Given the description of an element on the screen output the (x, y) to click on. 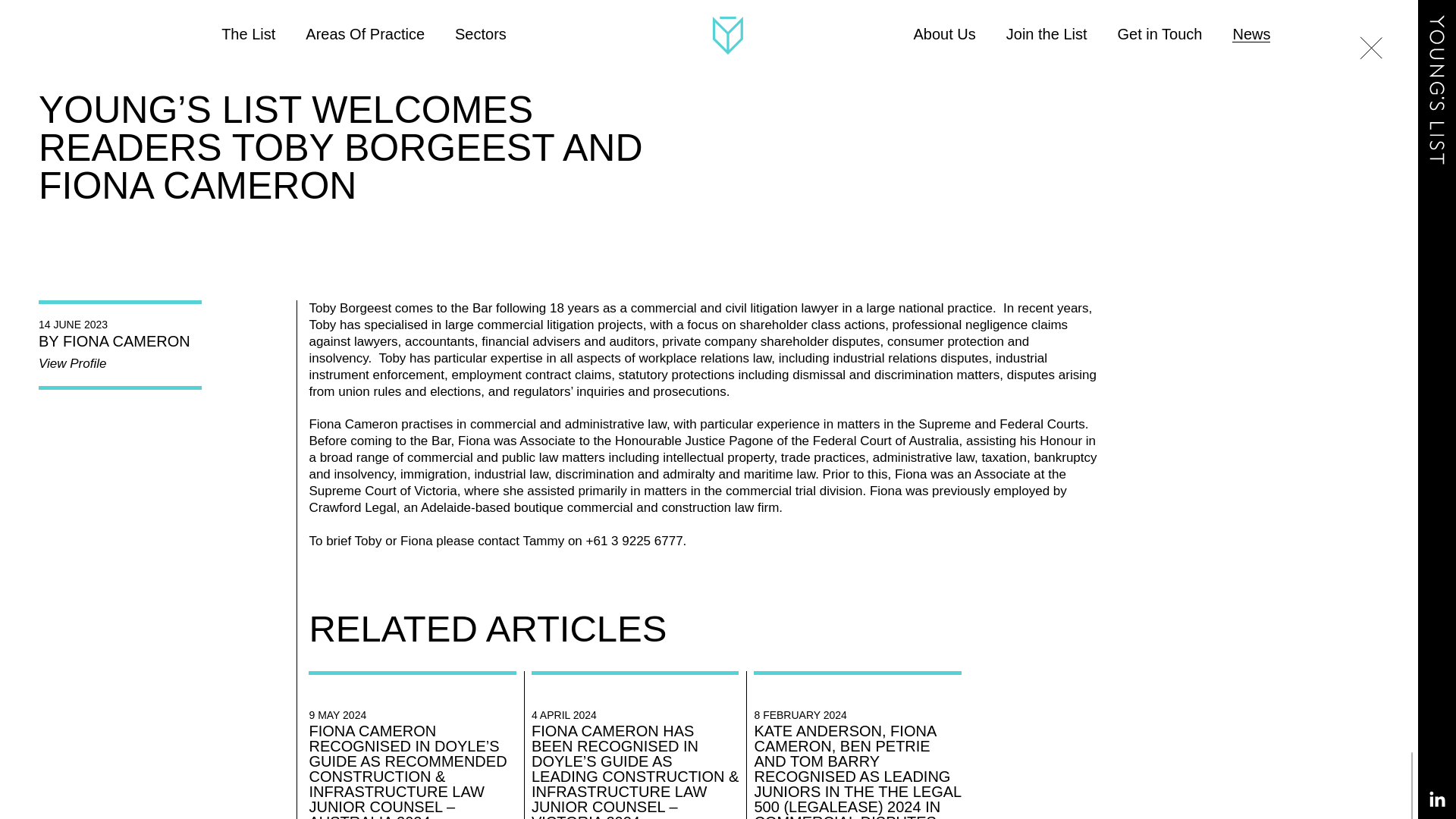
The List (248, 33)
News (1250, 33)
View Profile (72, 363)
Sectors (480, 33)
Areas Of Practice (365, 33)
Join the List (1046, 33)
Get in Touch (1160, 33)
About Us (944, 33)
